Given the description of an element on the screen output the (x, y) to click on. 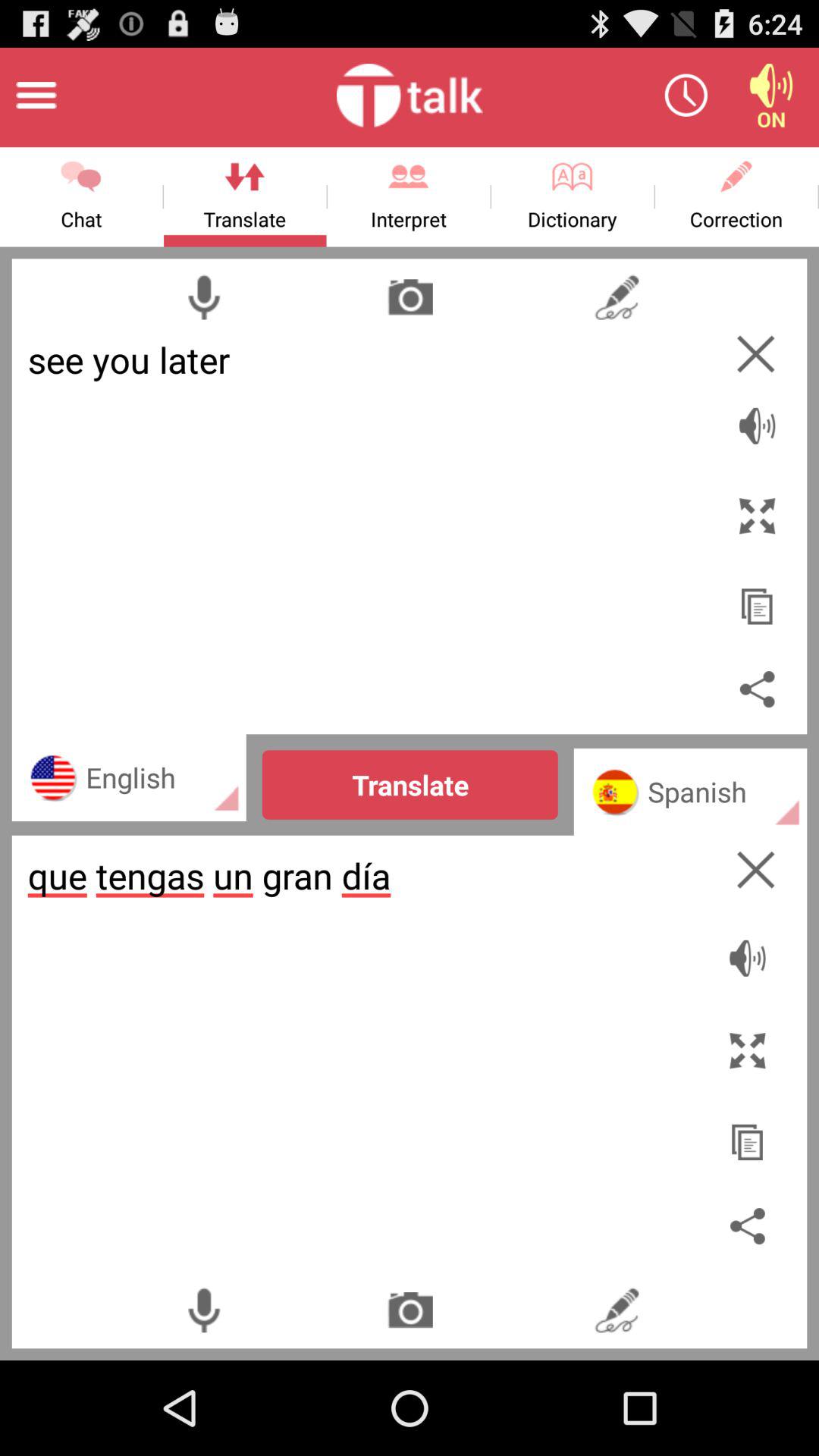
cancel translation (755, 869)
